Given the description of an element on the screen output the (x, y) to click on. 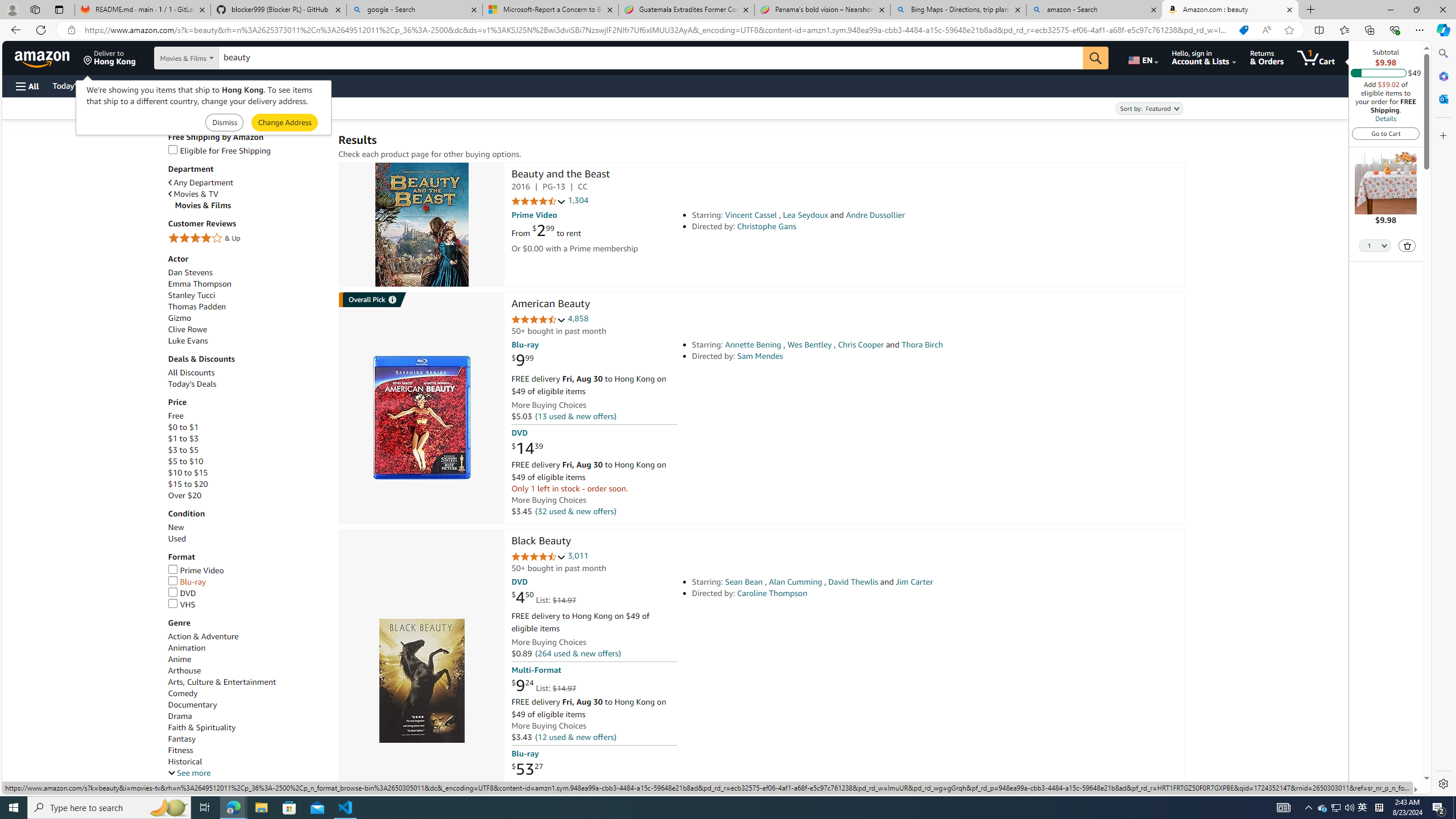
$14.39 (527, 448)
Historical (247, 761)
Emma Thompson (247, 284)
Over $20 (184, 495)
(12 used & new offers) (574, 736)
$53.27 (527, 768)
Beauty and the Beast (421, 224)
Anime (179, 659)
Blu-ray (186, 581)
Chris Cooper (860, 344)
Historical (184, 761)
